Given the description of an element on the screen output the (x, y) to click on. 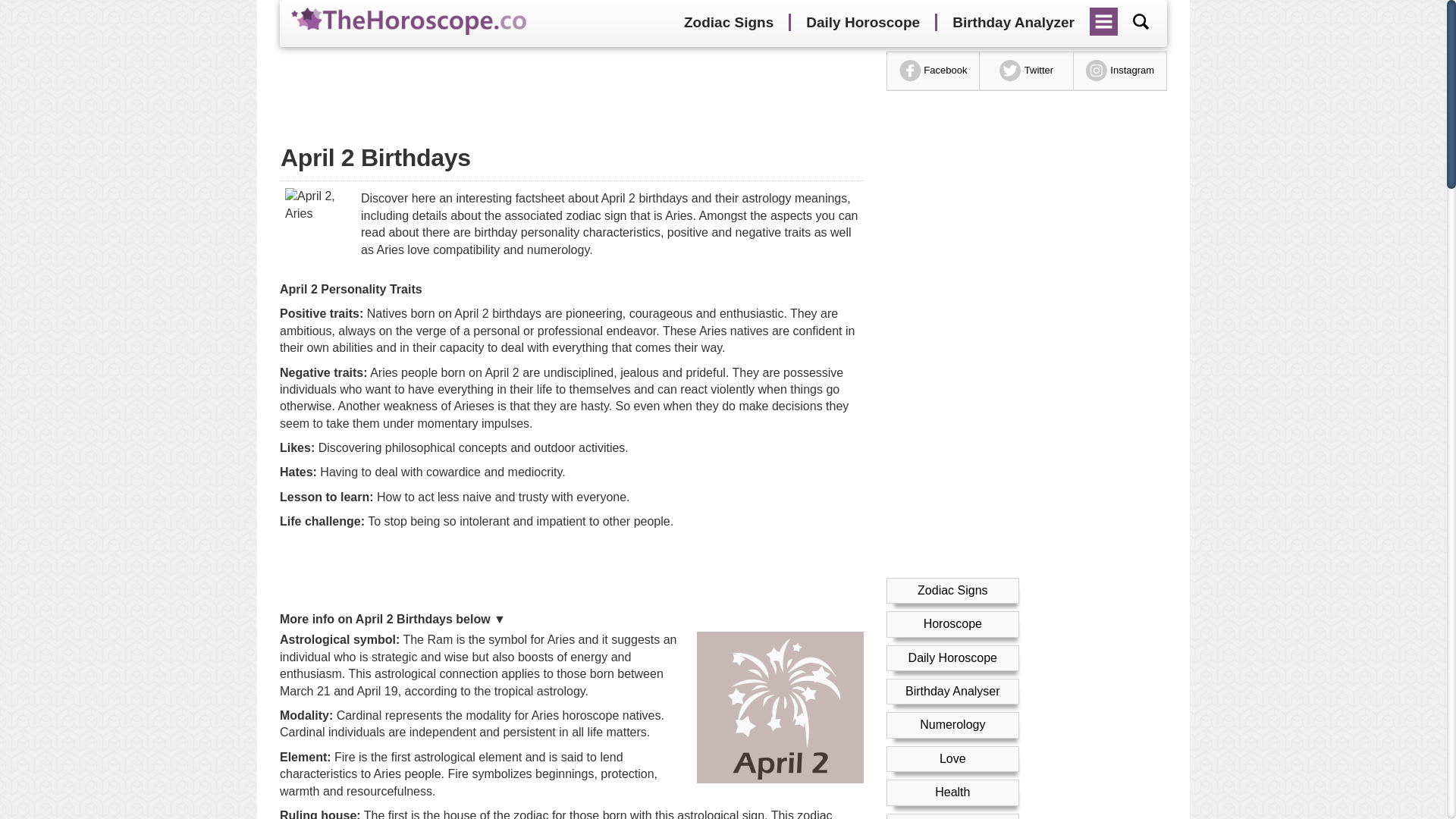
Birthday Analyzer (1013, 22)
Search by your birthday... (1140, 21)
Daily Horoscope (862, 22)
Menu (1104, 16)
Zodiac Signs (728, 22)
